Given the description of an element on the screen output the (x, y) to click on. 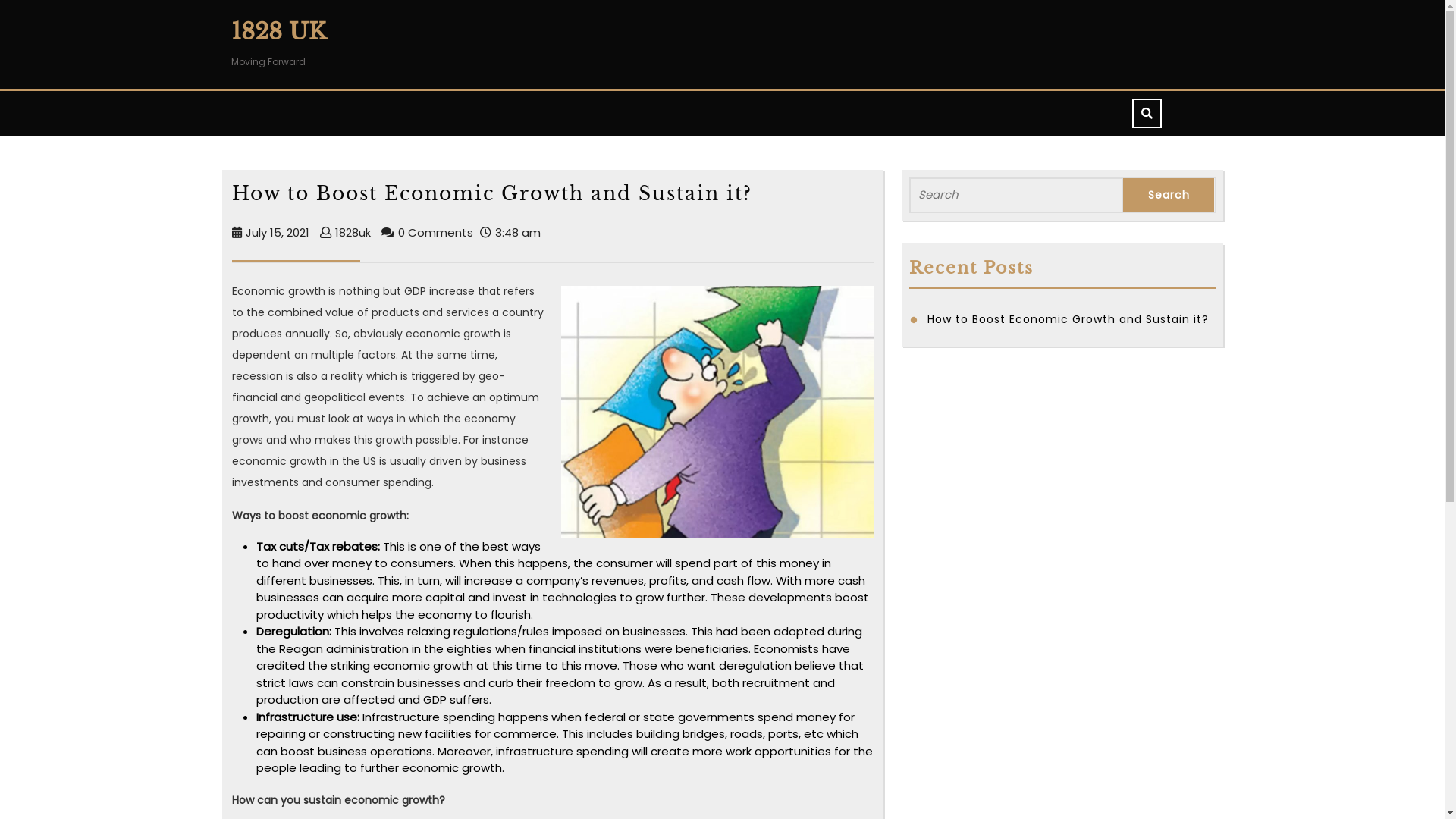
How to Boost Economic Growth and Sustain it? Element type: text (1067, 318)
July 15, 2021
July 15, 2021 Element type: text (277, 232)
1828uk
1828uk Element type: text (352, 232)
Search Element type: text (1168, 195)
1828 UK Element type: text (277, 31)
